Given the description of an element on the screen output the (x, y) to click on. 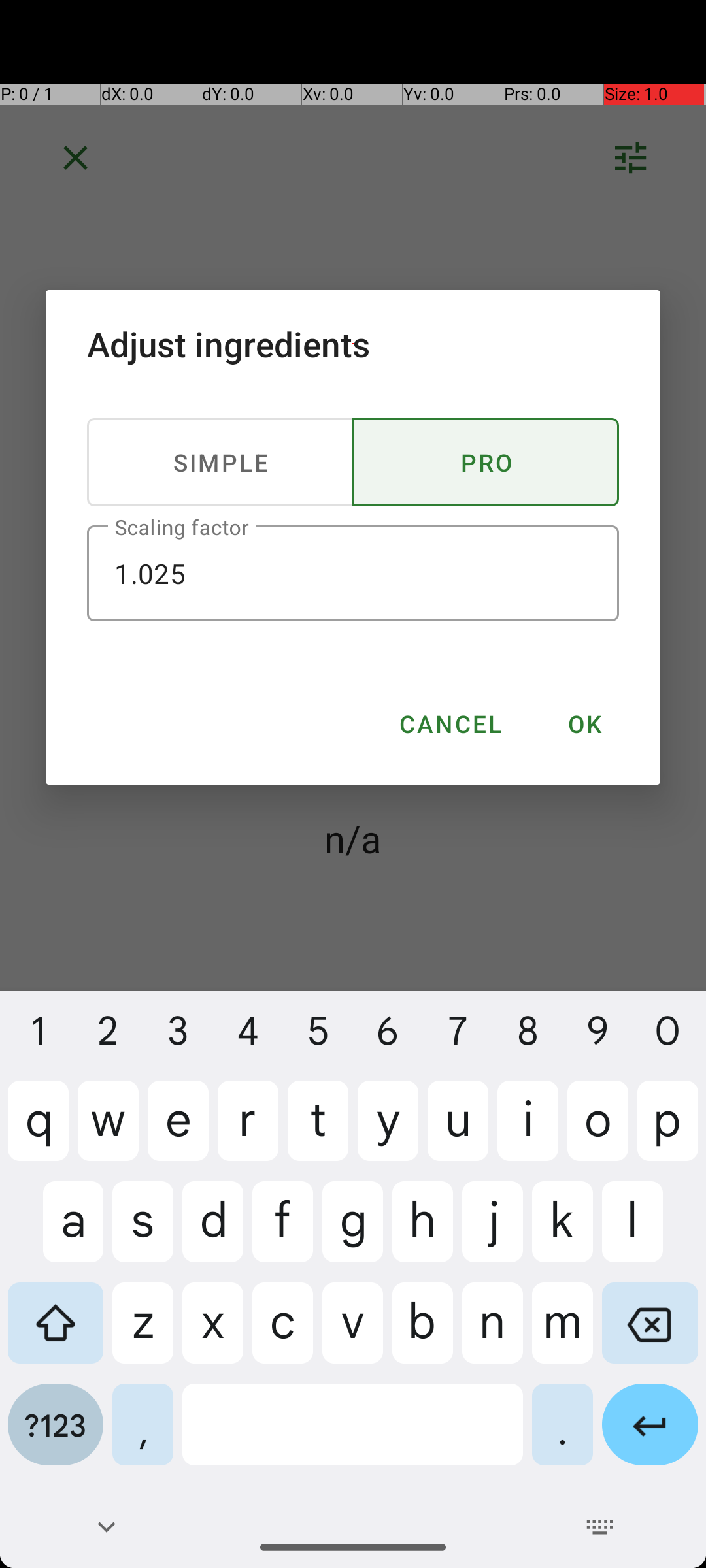
1.025 Element type: android.widget.EditText (352, 573)
